Given the description of an element on the screen output the (x, y) to click on. 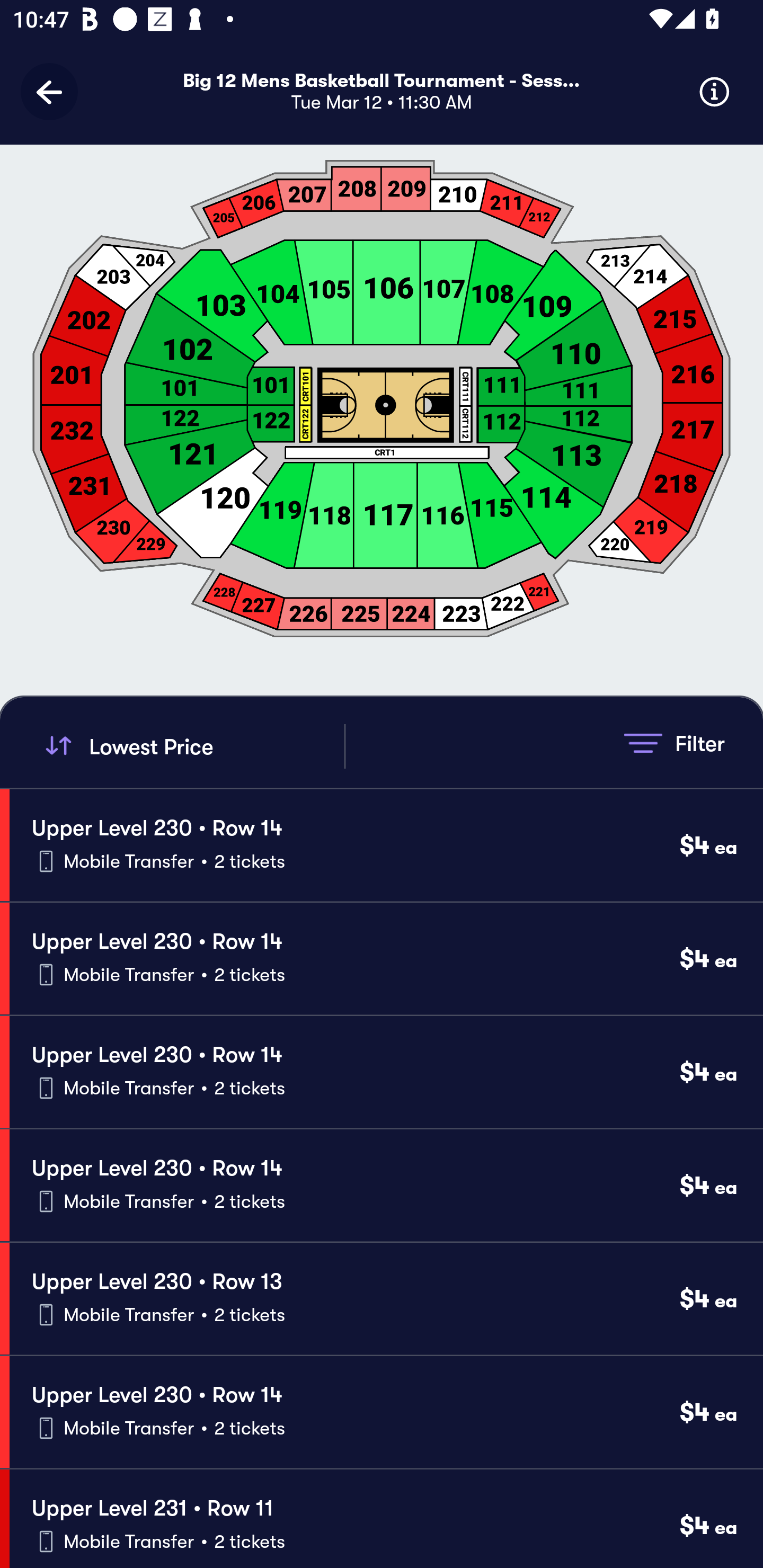
Lowest Price (191, 746)
Filter (674, 743)
